Given the description of an element on the screen output the (x, y) to click on. 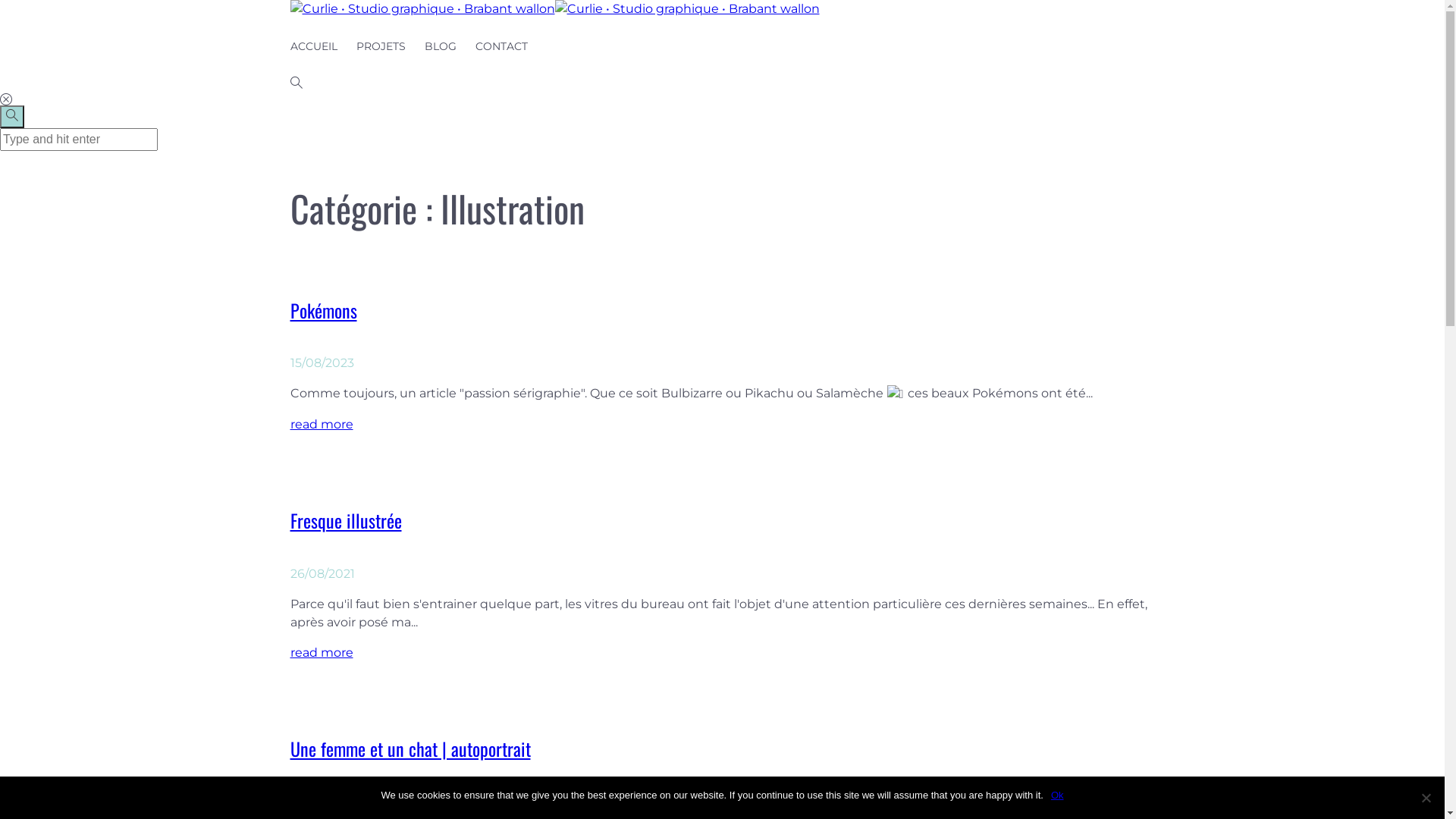
read more Element type: text (320, 652)
Une femme et un chat | autoportrait Element type: text (409, 748)
Ok Element type: text (1057, 795)
read more Element type: text (320, 424)
ACCUEIL Element type: text (312, 46)
BLOG Element type: text (440, 46)
CONTACT Element type: text (500, 46)
PROJETS Element type: text (380, 46)
No Element type: hover (1425, 797)
